Given the description of an element on the screen output the (x, y) to click on. 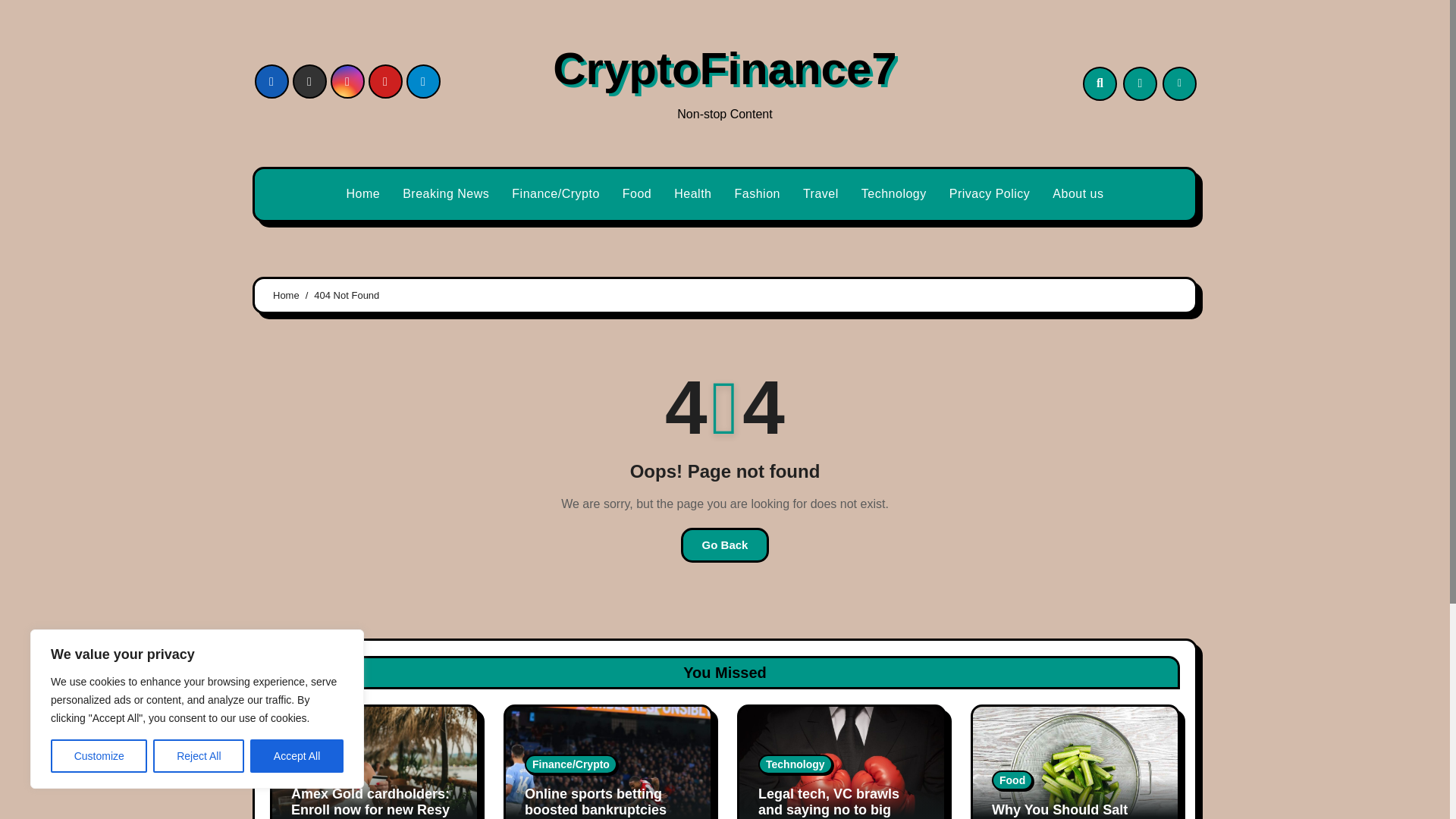
Reject All (198, 756)
Home (362, 194)
Privacy Policy (989, 194)
Food (636, 194)
Technology (893, 194)
Go Back (725, 544)
Travel (821, 194)
Health (692, 194)
Breaking News (445, 194)
Fashion (757, 194)
Customize (98, 756)
About us (1078, 194)
Food (636, 194)
